Given the description of an element on the screen output the (x, y) to click on. 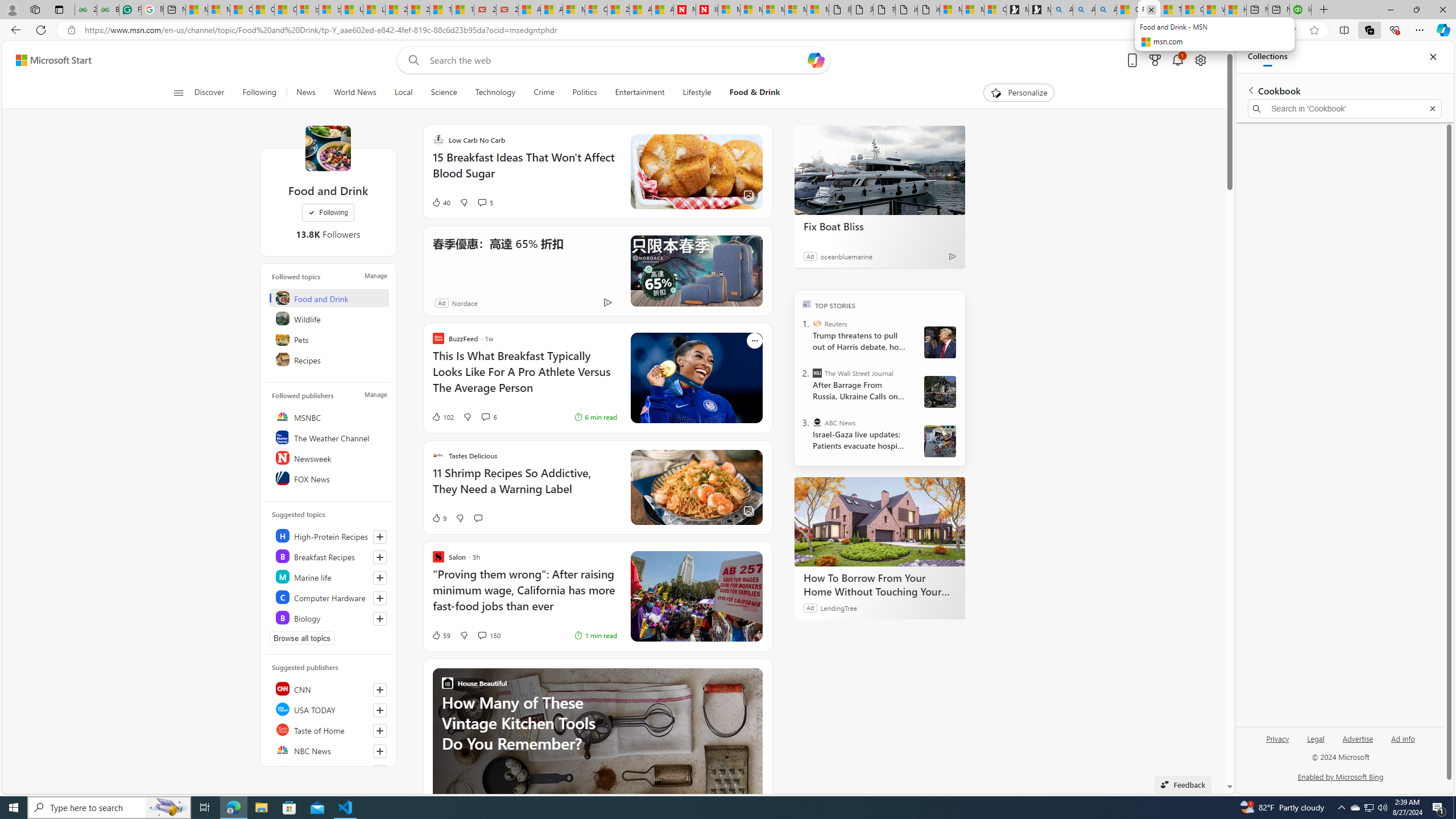
40 Like (440, 202)
102 Like (442, 416)
Class: highlight (328, 617)
Recipes (328, 359)
